Given the description of an element on the screen output the (x, y) to click on. 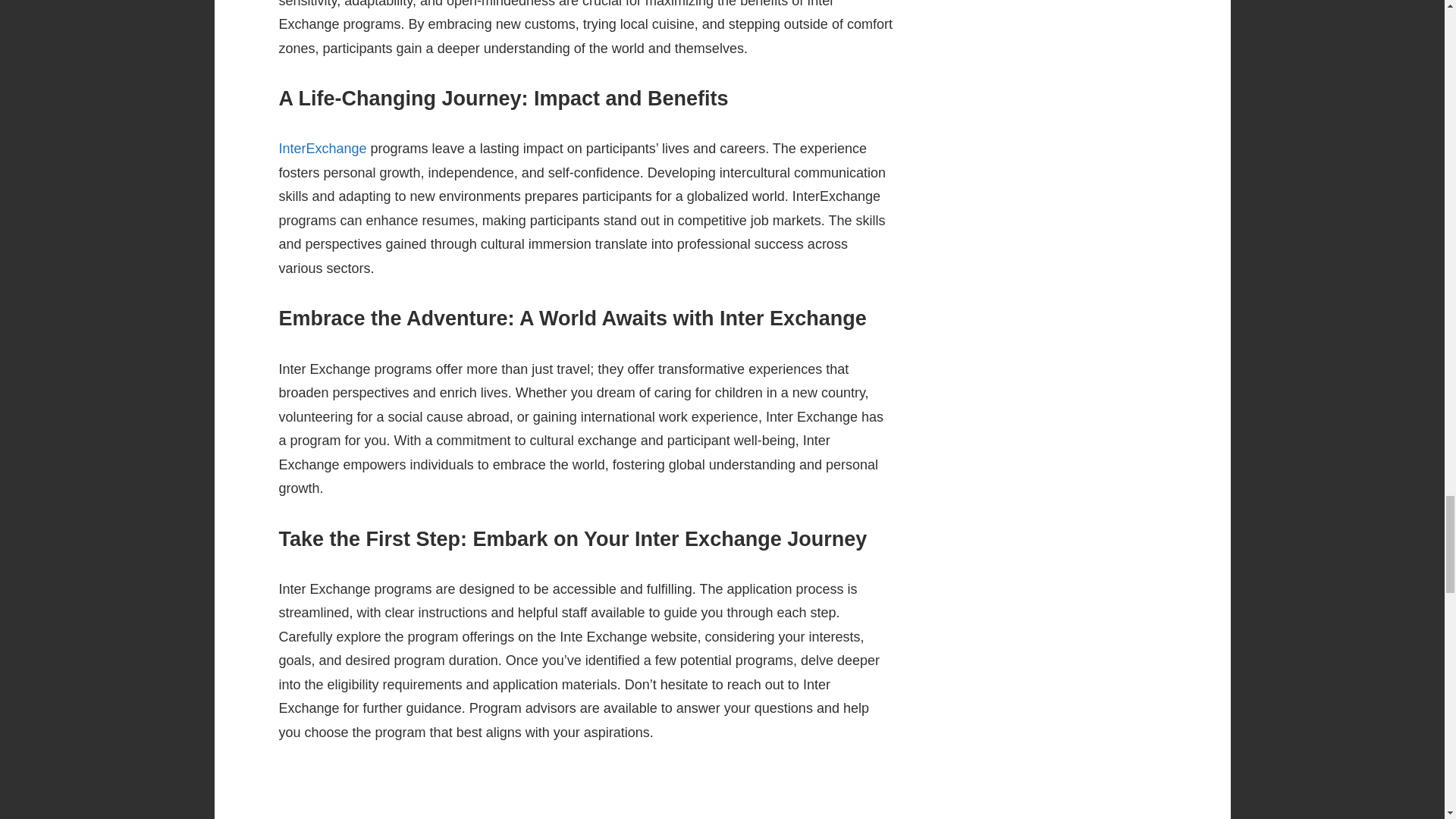
InterExchange (322, 148)
